Given the description of an element on the screen output the (x, y) to click on. 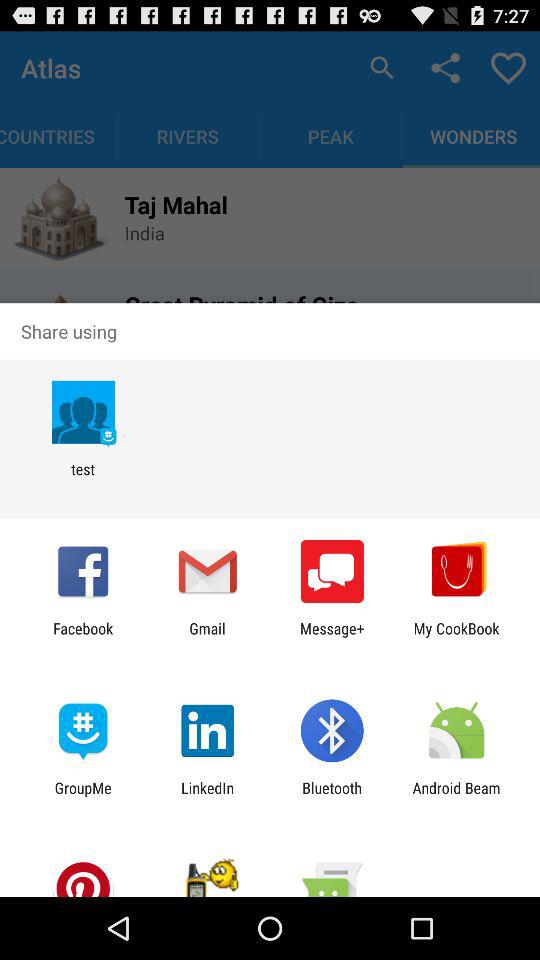
scroll to the linkedin item (207, 796)
